Given the description of an element on the screen output the (x, y) to click on. 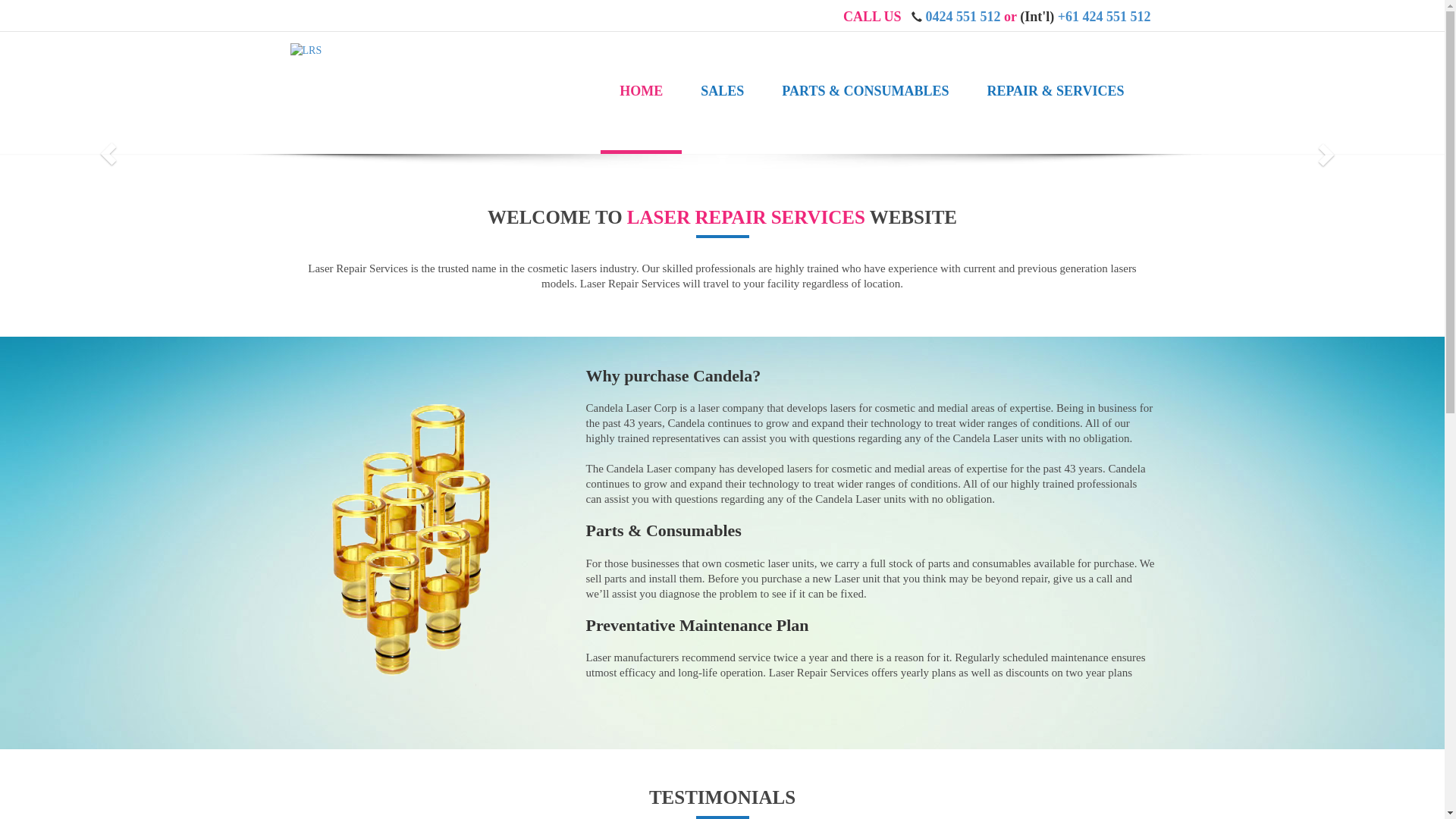
SALES Element type: text (721, 90)
0424 551 512 Element type: text (963, 16)
PARTS & CONSUMABLES Element type: text (864, 90)
HOME Element type: text (640, 92)
+61 424 551 512 Element type: text (1104, 16)
REPAIR & SERVICES Element type: text (1054, 90)
LRS Element type: hover (305, 49)
